Given the description of an element on the screen output the (x, y) to click on. 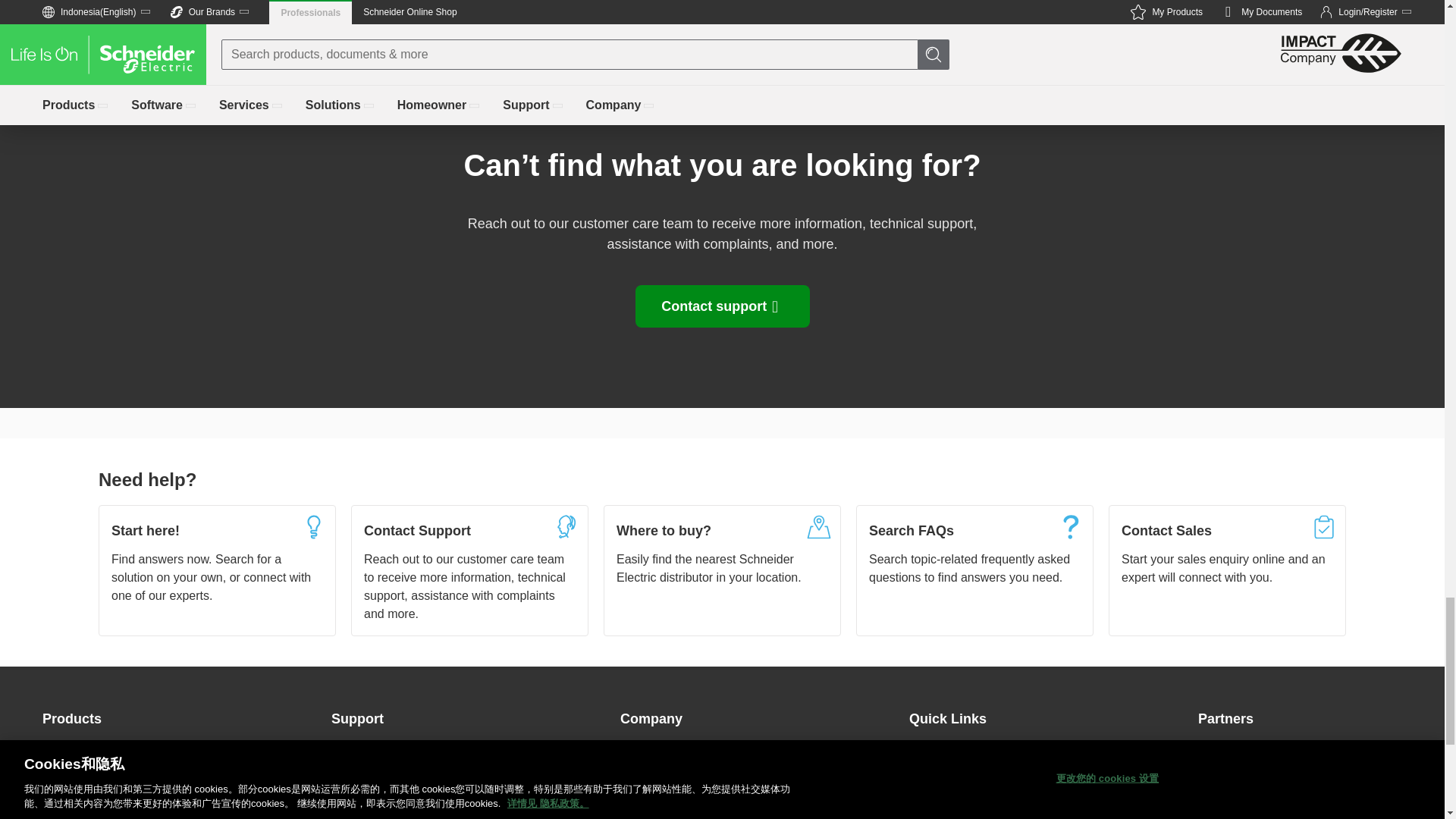
Products Documentation (108, 756)
Software Downloads (98, 787)
Product Selector (87, 813)
